Given the description of an element on the screen output the (x, y) to click on. 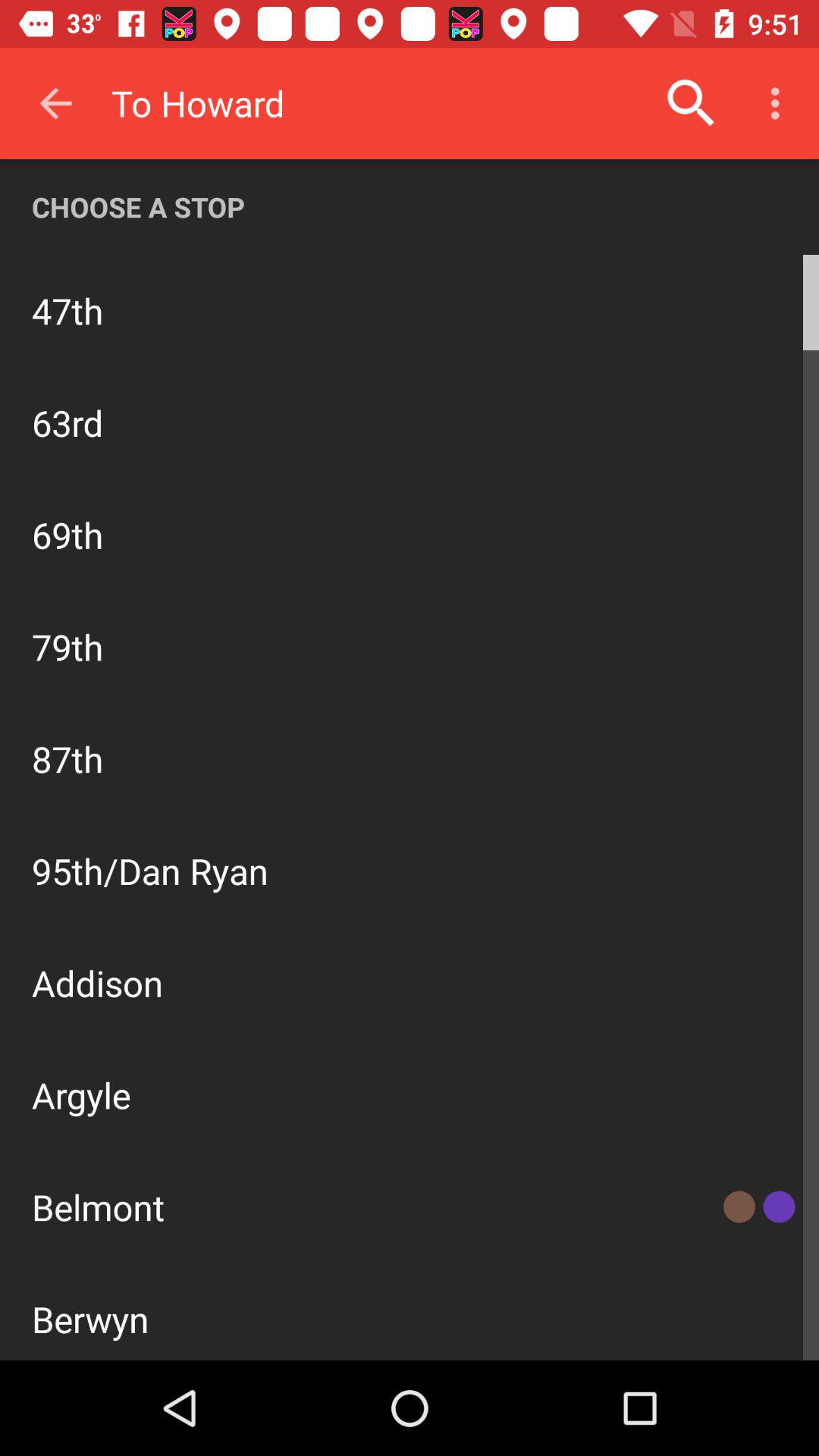
select all (409, 819)
